Given the description of an element on the screen output the (x, y) to click on. 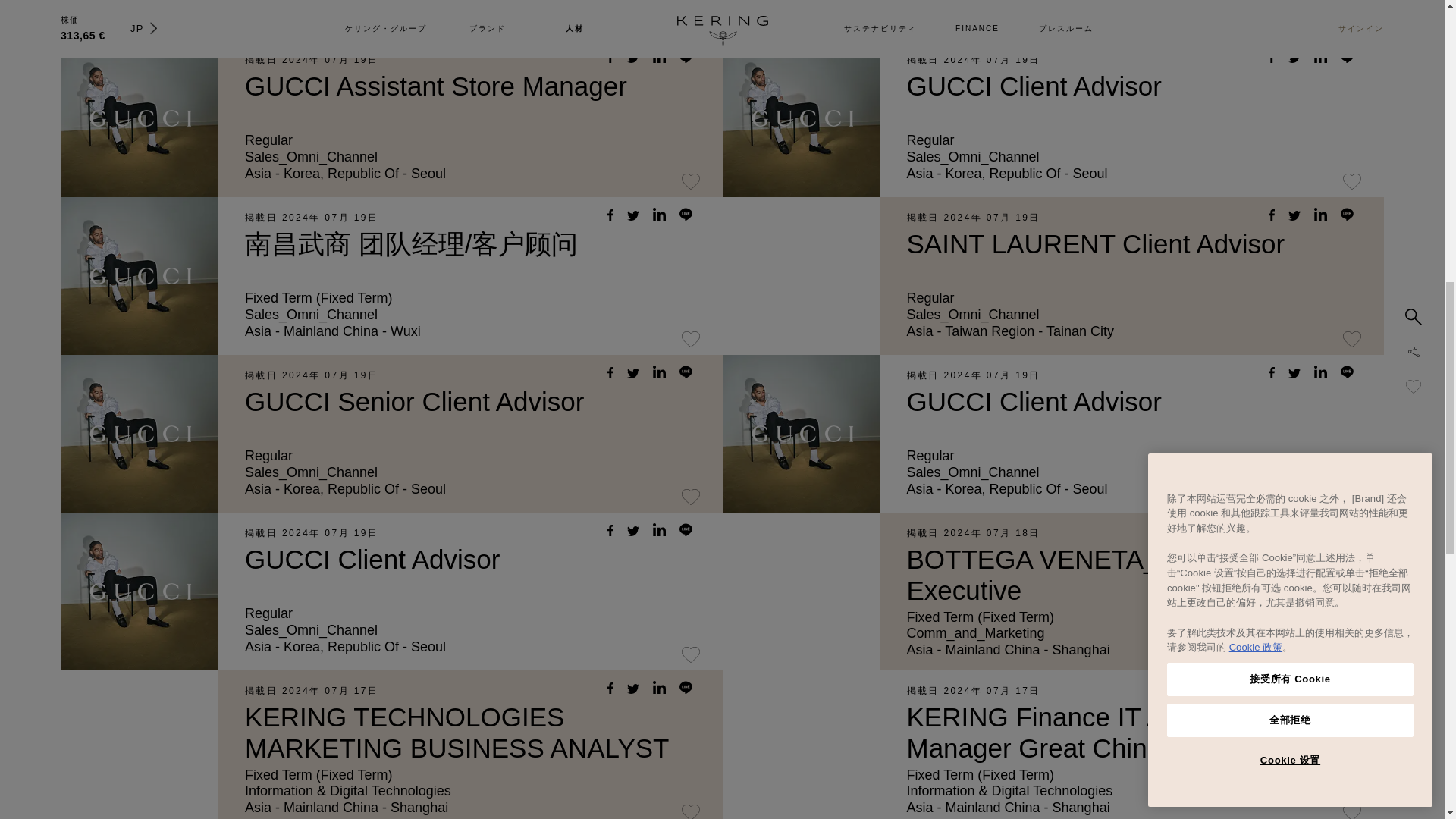
GUCCI Client Advisor (1034, 85)
GUCCI Assistant Store Manager (435, 85)
GUCCI Assistant Store Manager (435, 85)
